Given the description of an element on the screen output the (x, y) to click on. 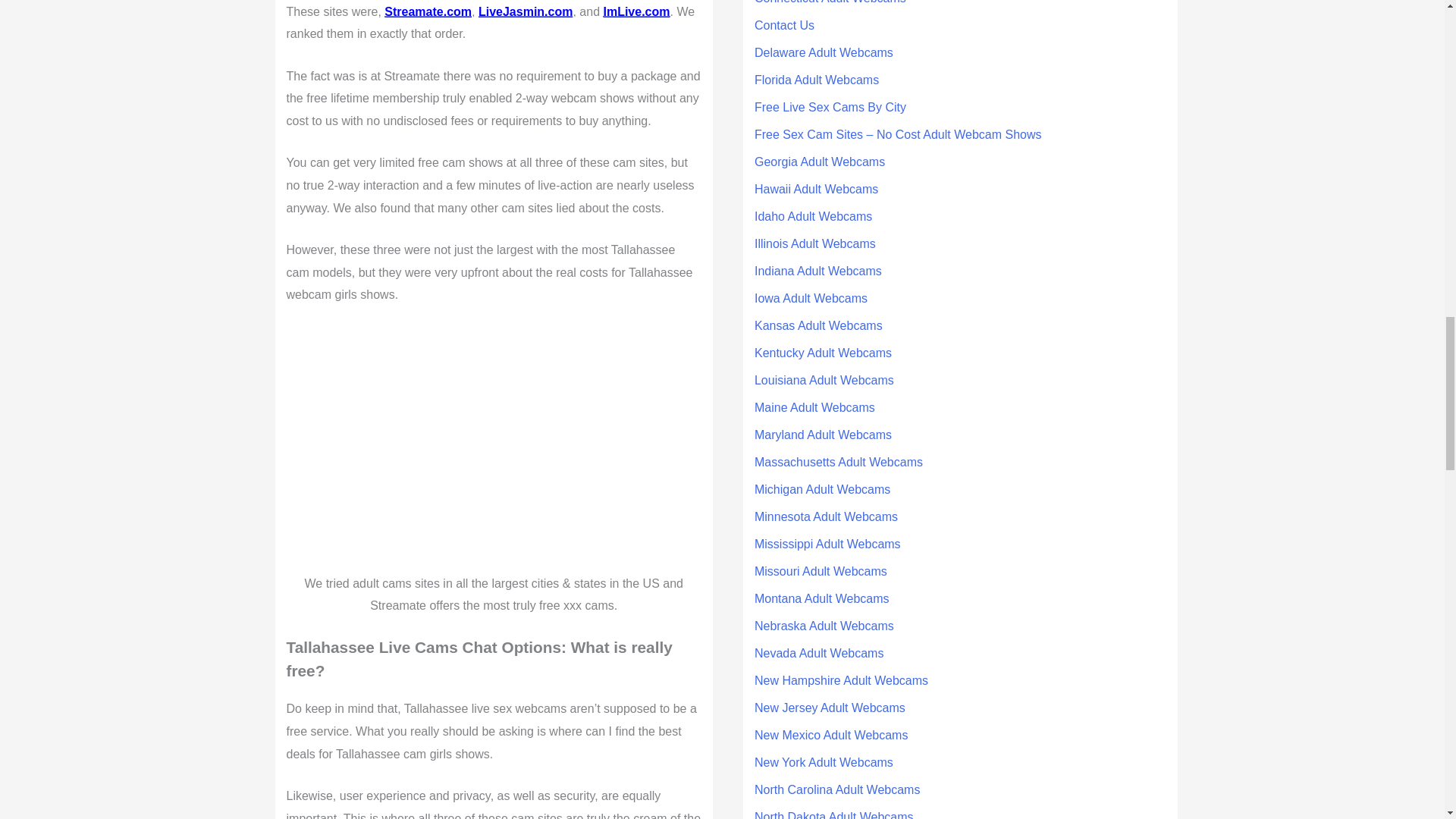
Streamate.com (427, 11)
ImLive.com (635, 11)
LiveJasmin.com (526, 11)
